Given the description of an element on the screen output the (x, y) to click on. 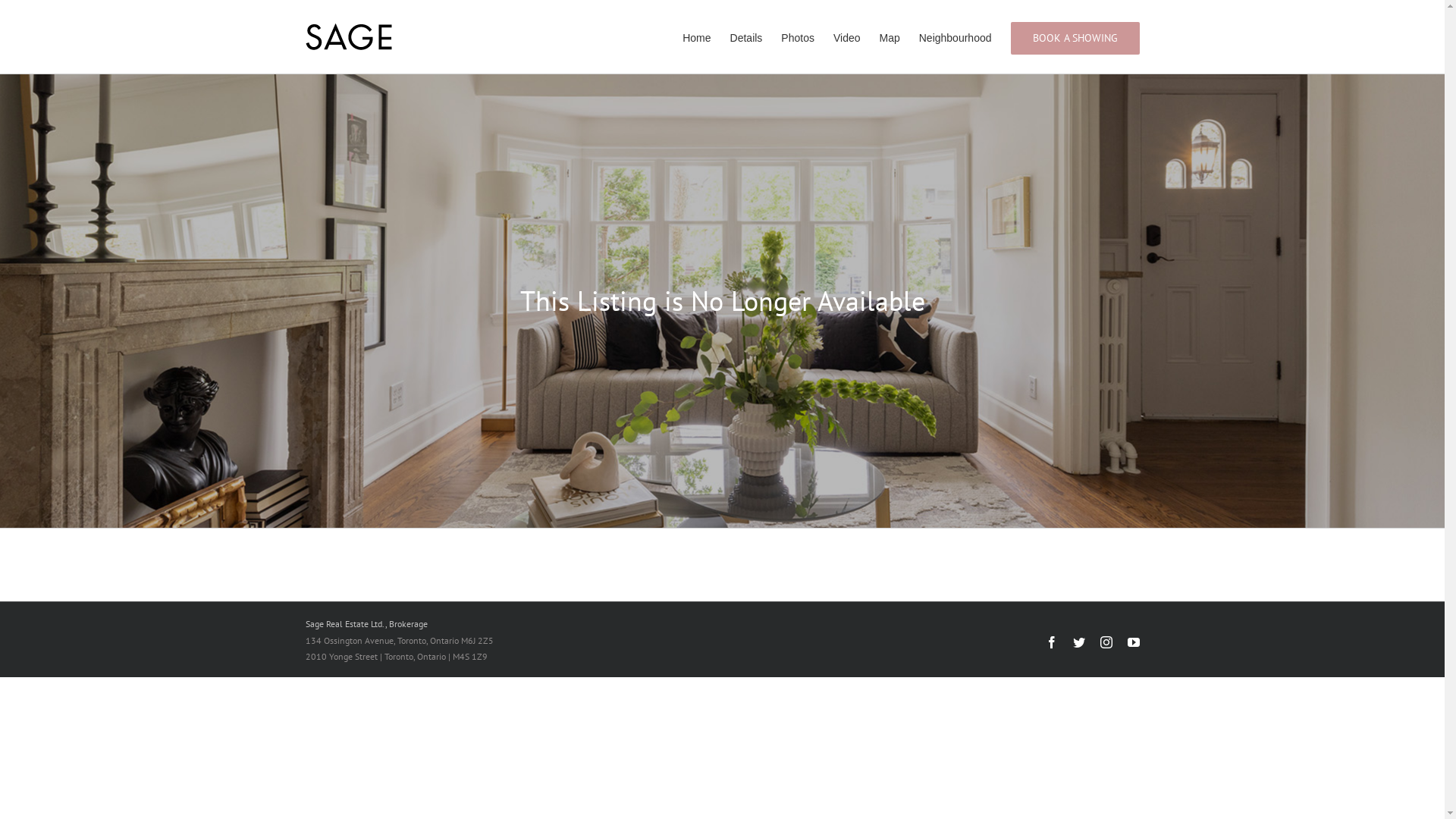
Twitter Element type: text (1078, 642)
Facebook Element type: text (1050, 642)
Neighbourhood Element type: text (955, 36)
Sage Real Estate Ltd., Brokerage Element type: text (365, 623)
Map Element type: text (889, 36)
BOOK A SHOWING Element type: text (1074, 36)
Home Element type: text (696, 36)
Details Element type: text (746, 36)
YouTube Element type: text (1132, 642)
Video Element type: text (846, 36)
Instagram Element type: text (1105, 642)
Photos Element type: text (797, 36)
